Given the description of an element on the screen output the (x, y) to click on. 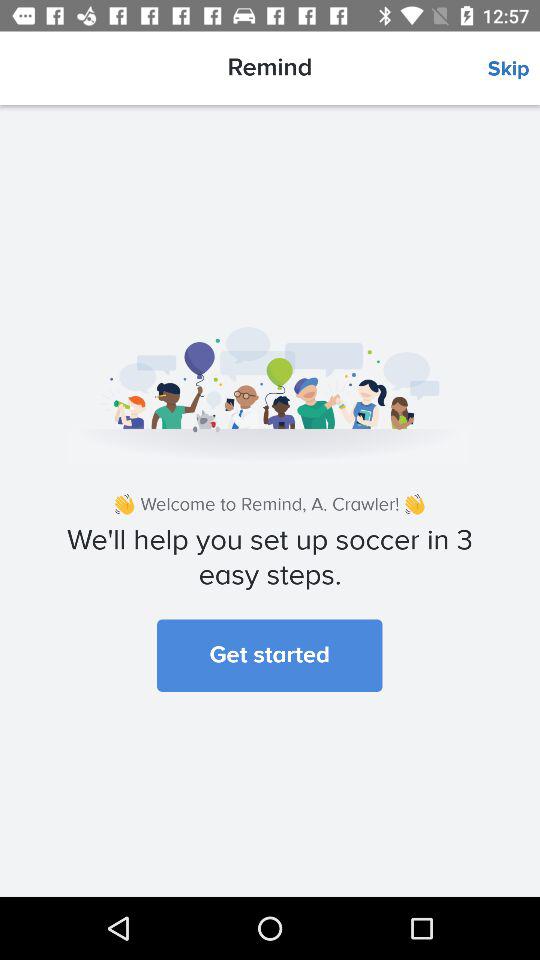
click get started (269, 655)
